Given the description of an element on the screen output the (x, y) to click on. 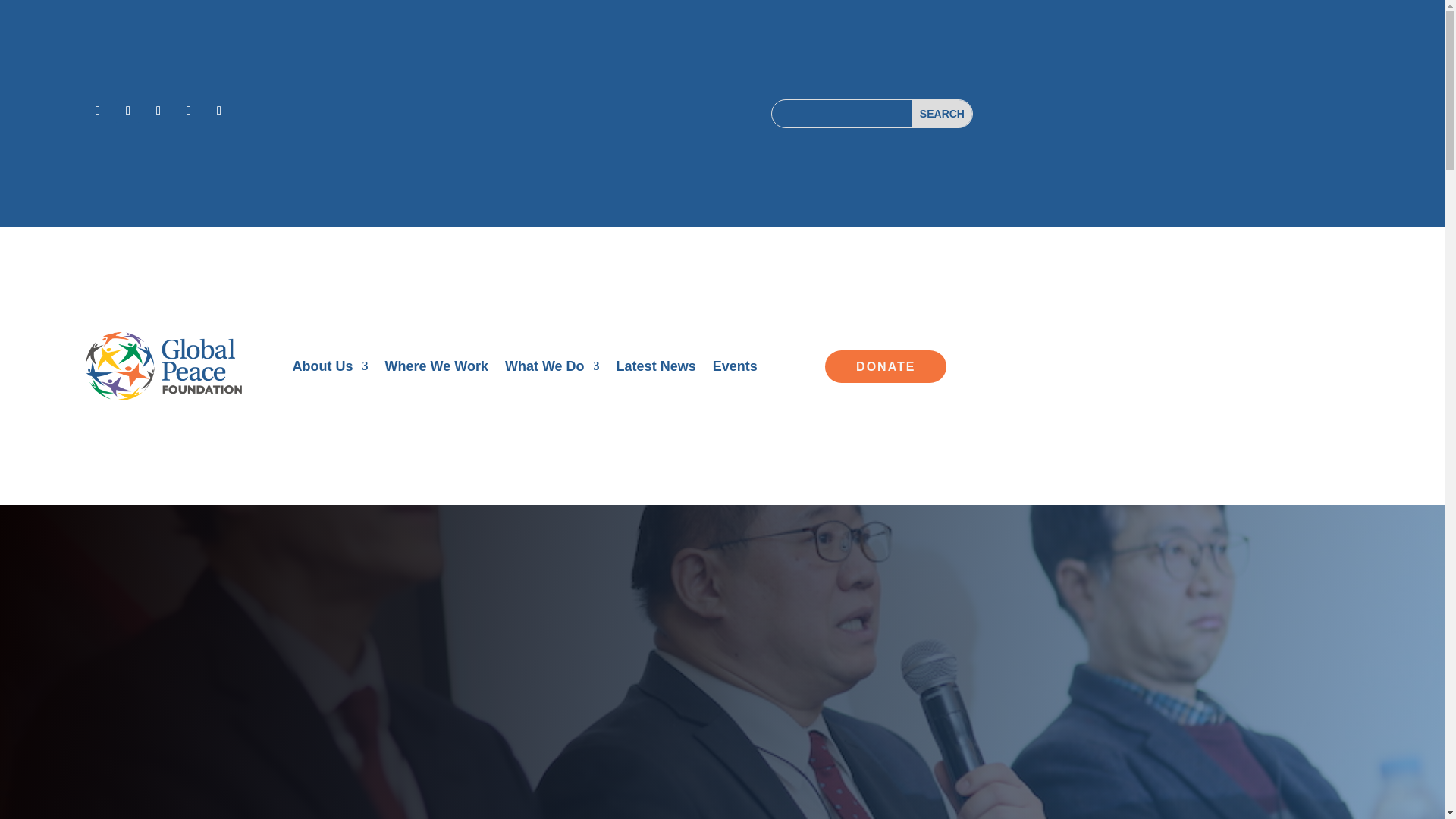
Events (735, 369)
Follow on Instagram (158, 110)
Where We Work (436, 369)
Follow on LinkedIn (188, 110)
Follow on Facebook (97, 110)
Search (942, 113)
Global Peace Foundation Logo (163, 366)
Follow on X (127, 110)
Search (942, 113)
About Us (330, 369)
Latest News (655, 369)
What We Do (552, 369)
Search (942, 113)
Follow on Youtube (218, 110)
DONATE (885, 366)
